Given the description of an element on the screen output the (x, y) to click on. 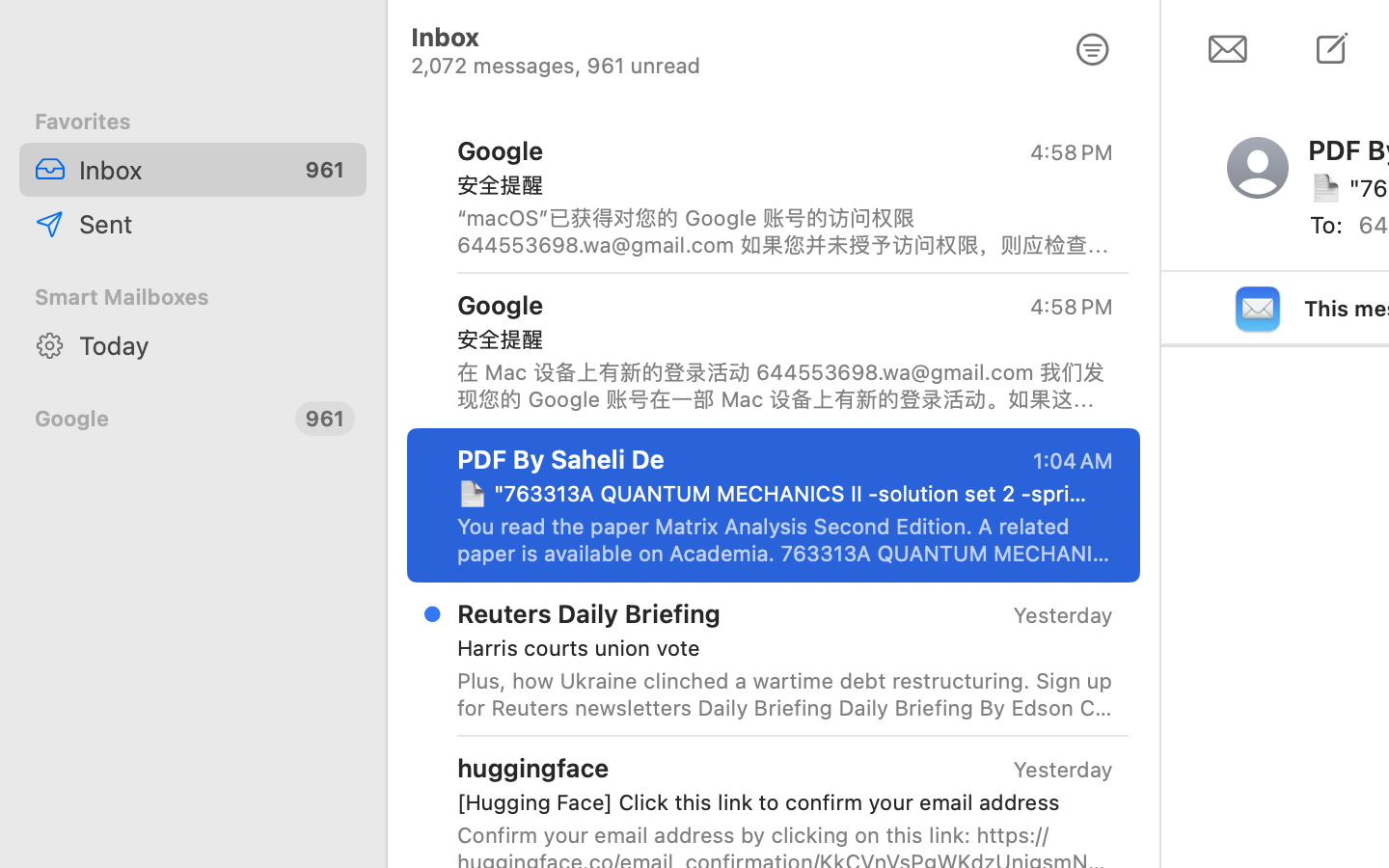
Harris courts union vote Element type: AXStaticText (777, 647)
在 Mac 设备上有新的登录活动 644553698.wa@gmail.com 我们发现您的 Google 账号在一部 Mac 设备上有新的登录活动。如果这是您本人的操作，那么您无需采取任何行动。如果这不是您本人的操作，我们会帮助您保护您的账号。 查看活动 您也可以访问以下网址查看安全性活动： https://myaccount.google.com/notifications 我们向您发送这封电子邮件，目的是让您了解关于您的 Google 账号和服务的重大变化。 © 2024 Google LLC, 1600 Amphitheatre Parkway, Mountain View, CA 94043, USA Element type: AXStaticText (784, 385)
